Given the description of an element on the screen output the (x, y) to click on. 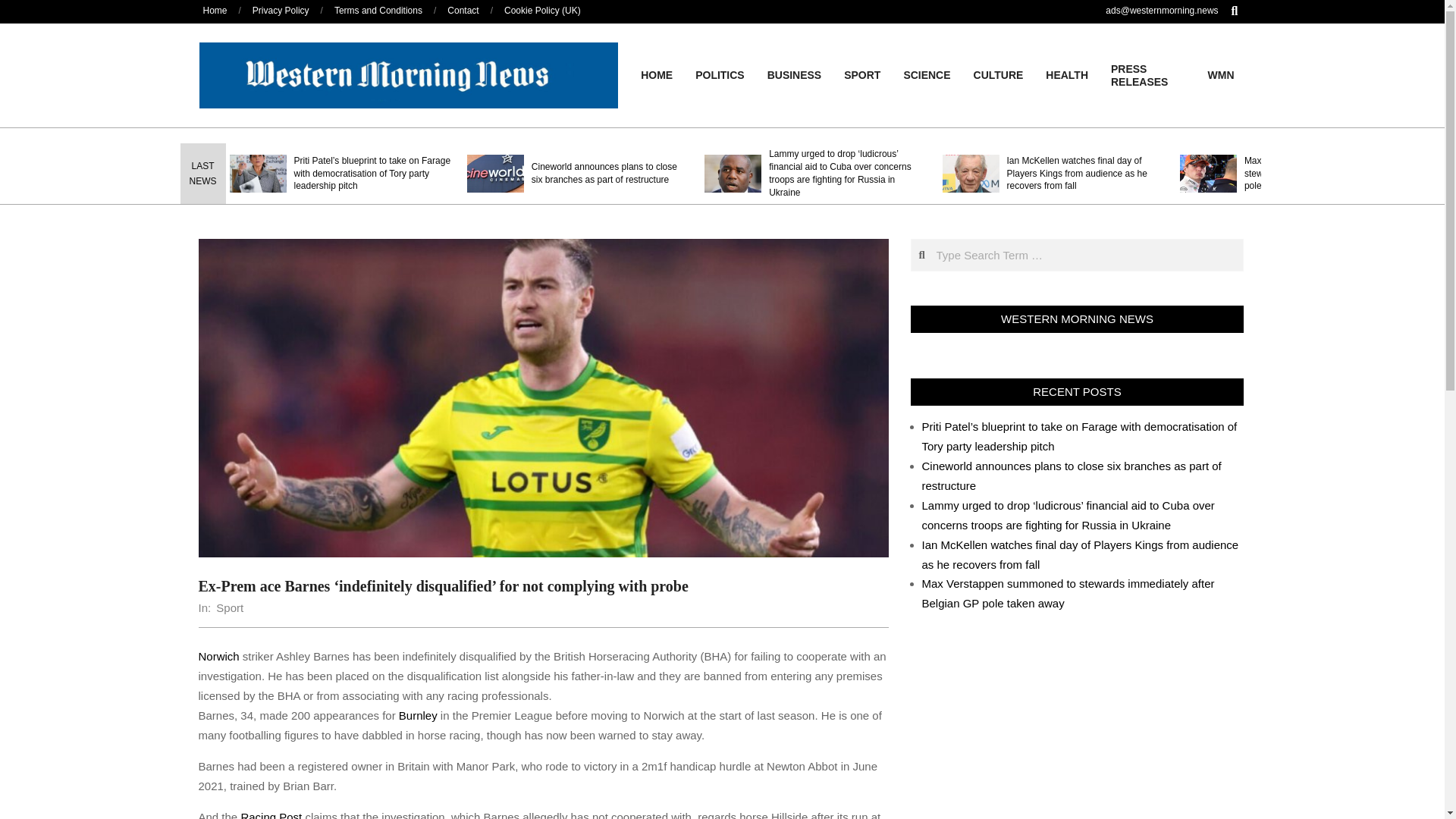
BUSINESS (793, 74)
Search (21, 8)
HEALTH (1066, 74)
Privacy Policy (279, 9)
PRESS RELEASES (1147, 75)
Contact (462, 9)
Terms and Conditions (378, 9)
CULTURE (998, 74)
SCIENCE (925, 74)
WMN (1221, 74)
HOME (656, 74)
